Given the description of an element on the screen output the (x, y) to click on. 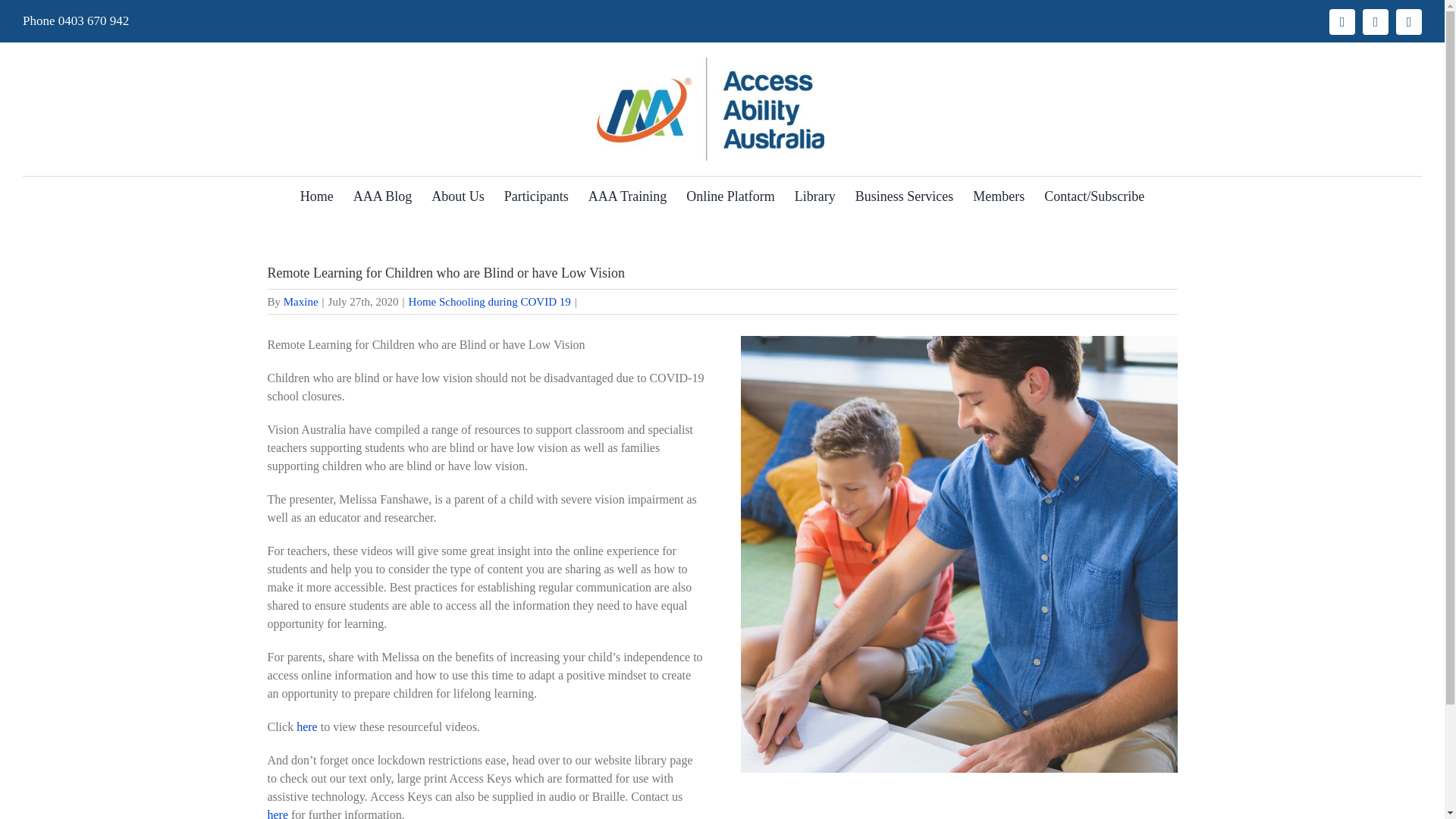
Members (997, 196)
Home Schooling during COVID 19 (489, 301)
Online Platform (730, 196)
About Us (458, 196)
Maxine (300, 301)
here (307, 726)
Posts by Maxine (300, 301)
AAA Training (627, 196)
Participants (536, 196)
Home (316, 196)
